Given the description of an element on the screen output the (x, y) to click on. 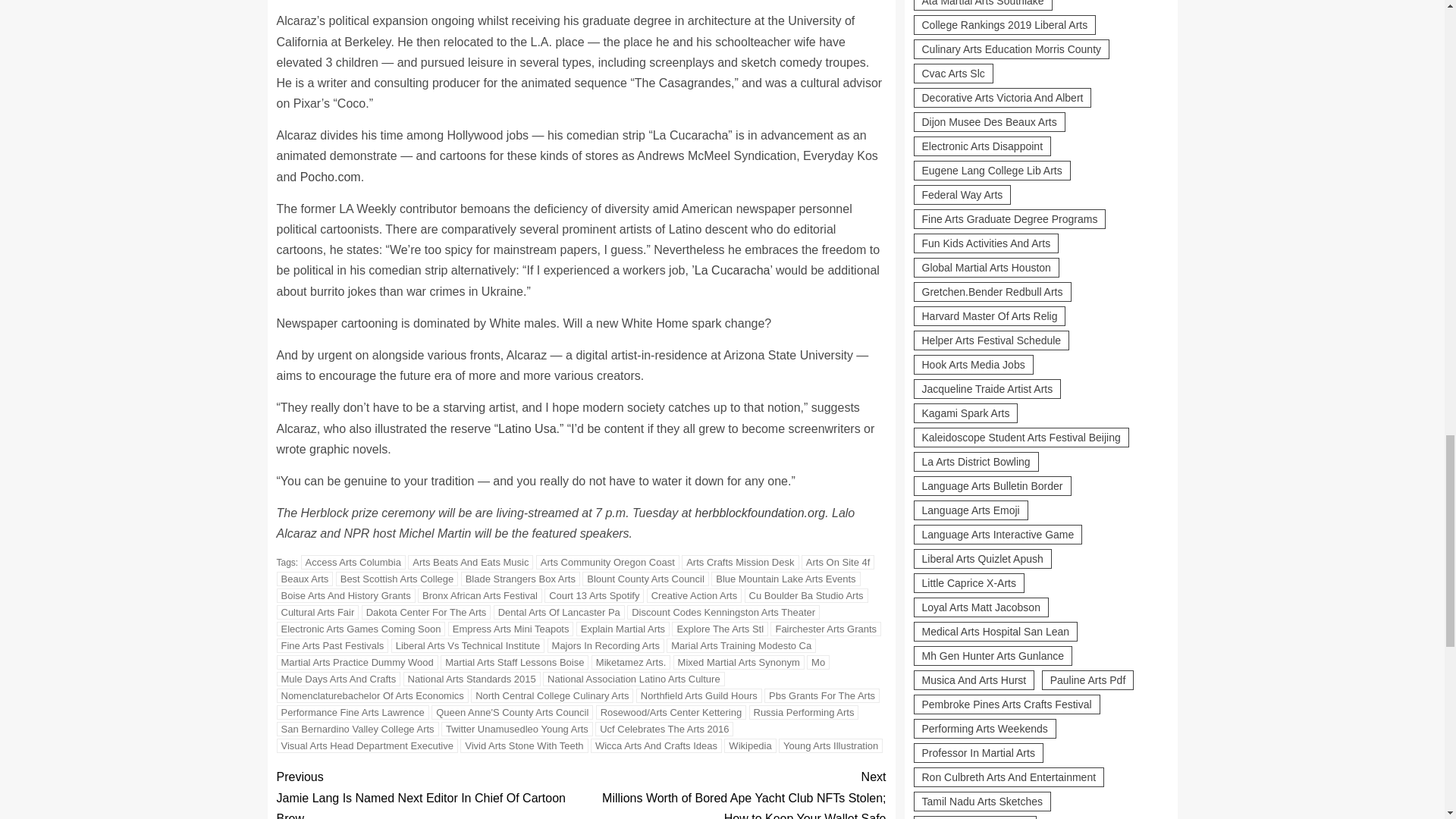
Pocho.com (330, 176)
Best Scottish Arts College (397, 578)
Arts Crafts Mission Desk (739, 562)
herbblockfoundation.org (759, 512)
Access Arts Columbia (353, 562)
Arts On Site 4f (838, 562)
Arts Beats And Eats Music (469, 562)
Beaux Arts (304, 578)
Arts Community Oregon Coast (607, 562)
